Given the description of an element on the screen output the (x, y) to click on. 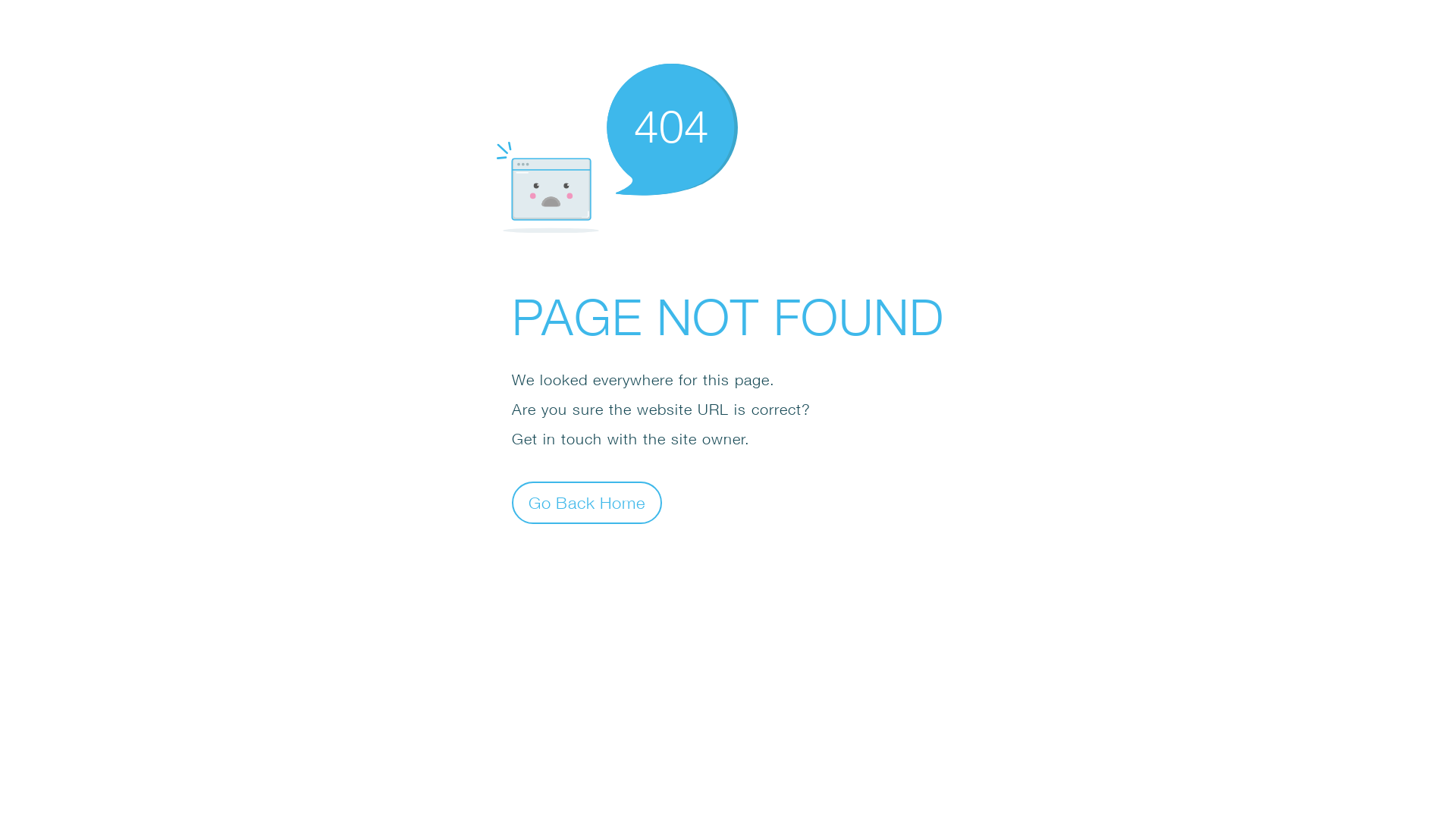
Go Back Home Element type: text (586, 502)
